Given the description of an element on the screen output the (x, y) to click on. 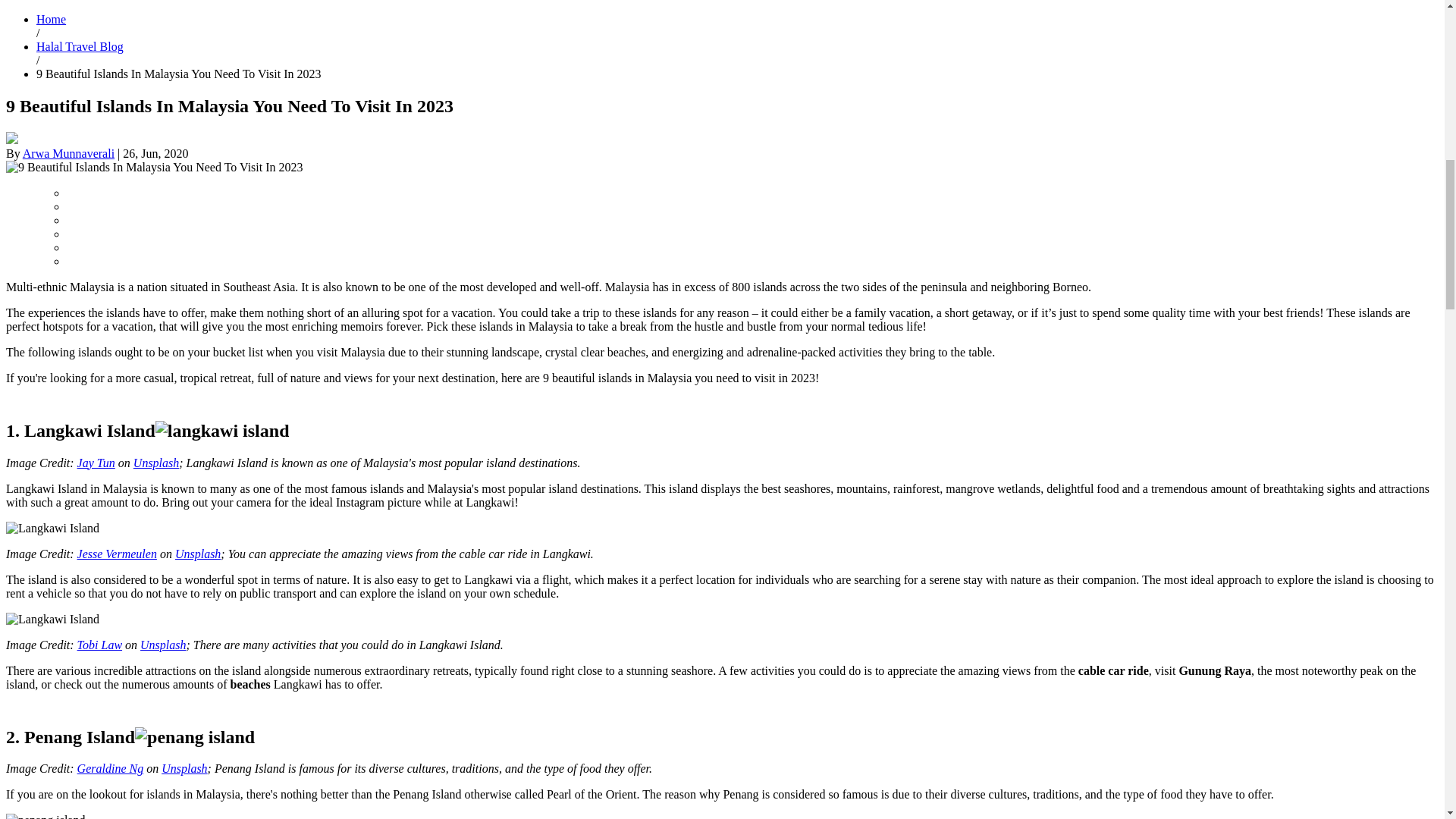
Home (50, 19)
